Given the description of an element on the screen output the (x, y) to click on. 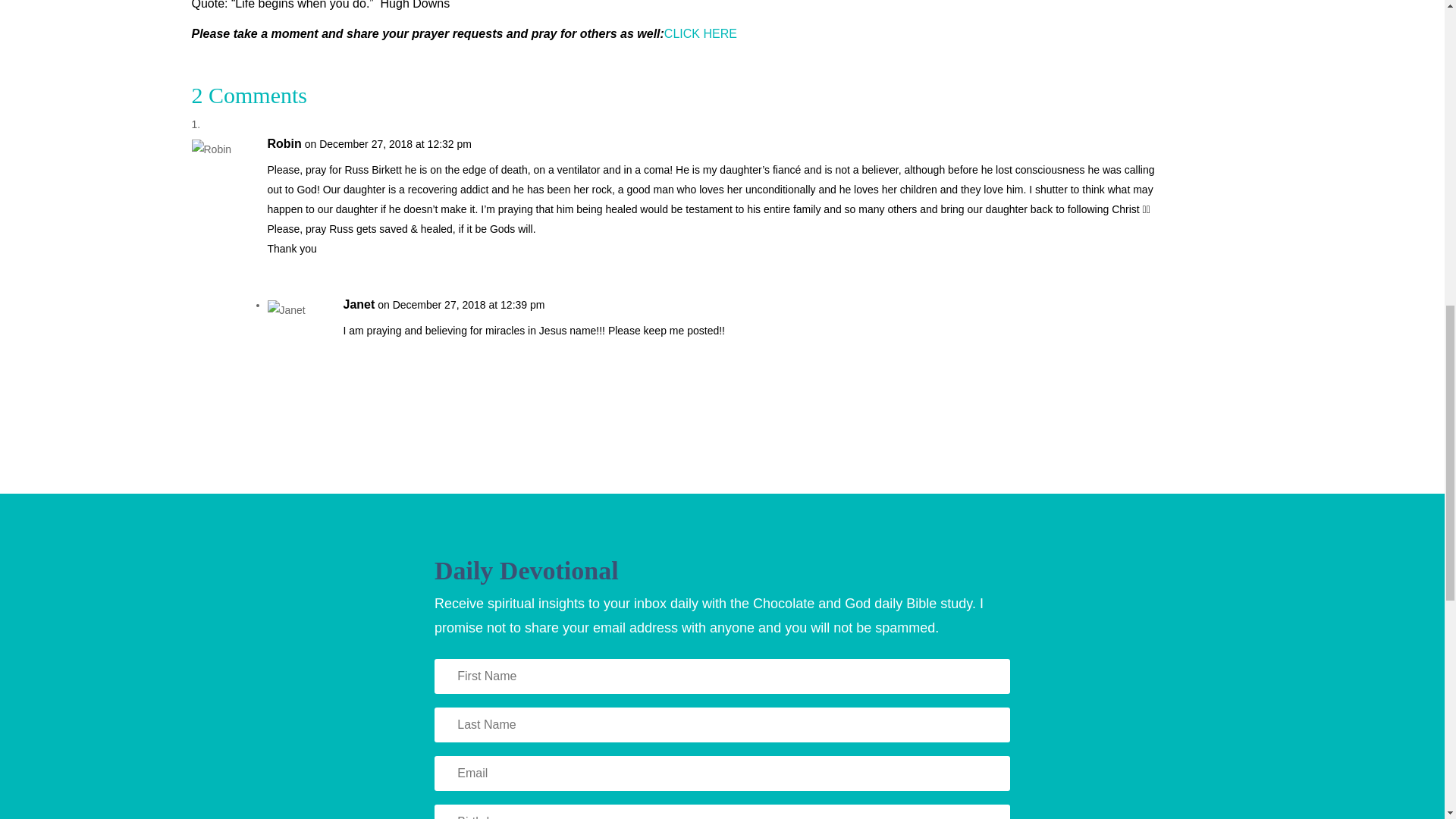
CLICK HERE  (701, 33)
Janet (358, 304)
